Given the description of an element on the screen output the (x, y) to click on. 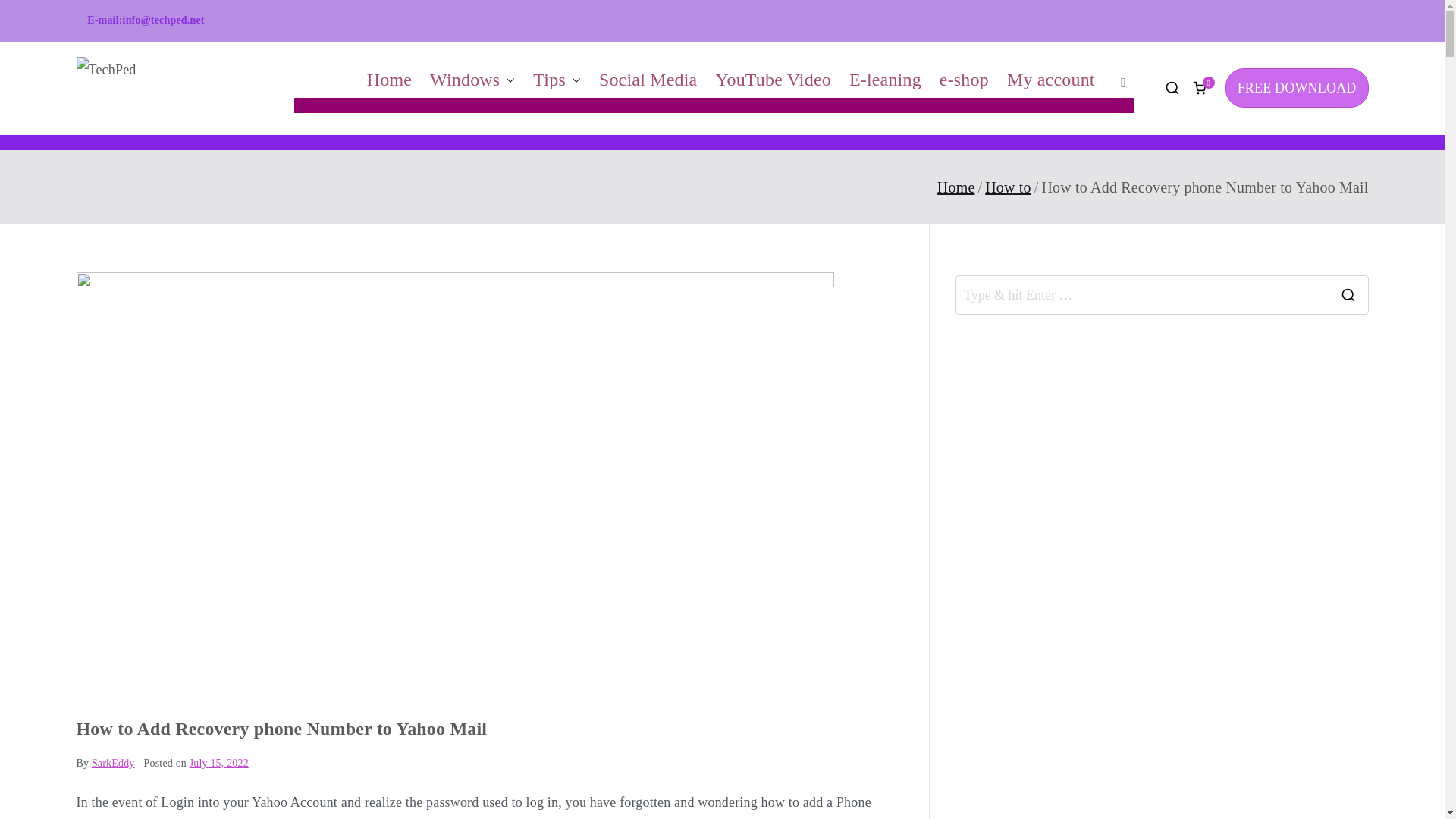
E-leaning (884, 80)
Search (26, 15)
Windows (472, 80)
Social Media (647, 80)
View your shopping cart (1199, 87)
0 (1199, 87)
Home (389, 80)
FREE DOWNLOAD (1296, 87)
Search for: (1141, 294)
Tips (556, 80)
TechPed (288, 98)
My account (1050, 80)
YouTube Video (772, 80)
e-shop (963, 80)
